Given the description of an element on the screen output the (x, y) to click on. 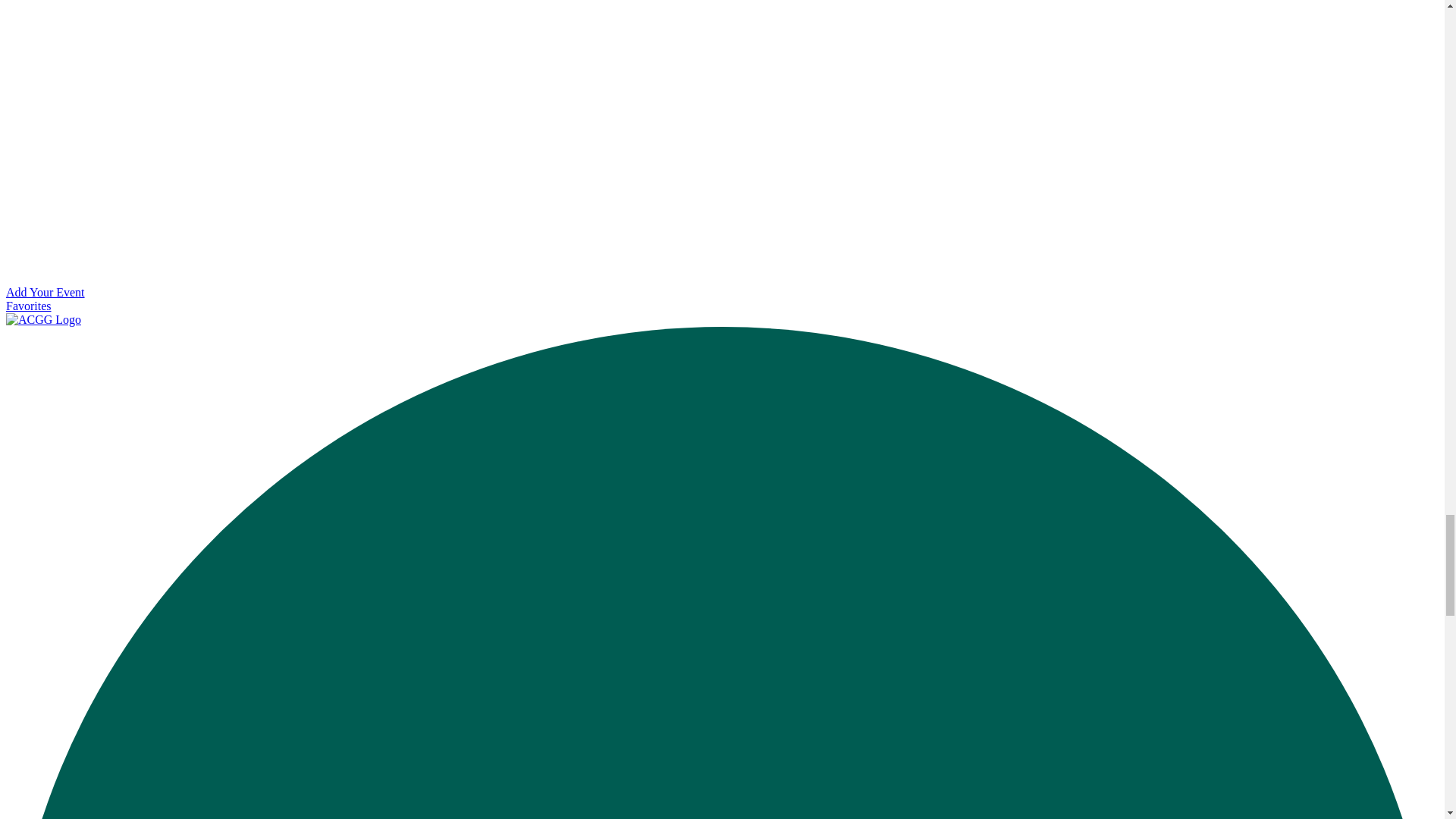
Add Your Event (44, 291)
Favorites (27, 305)
